Given the description of an element on the screen output the (x, y) to click on. 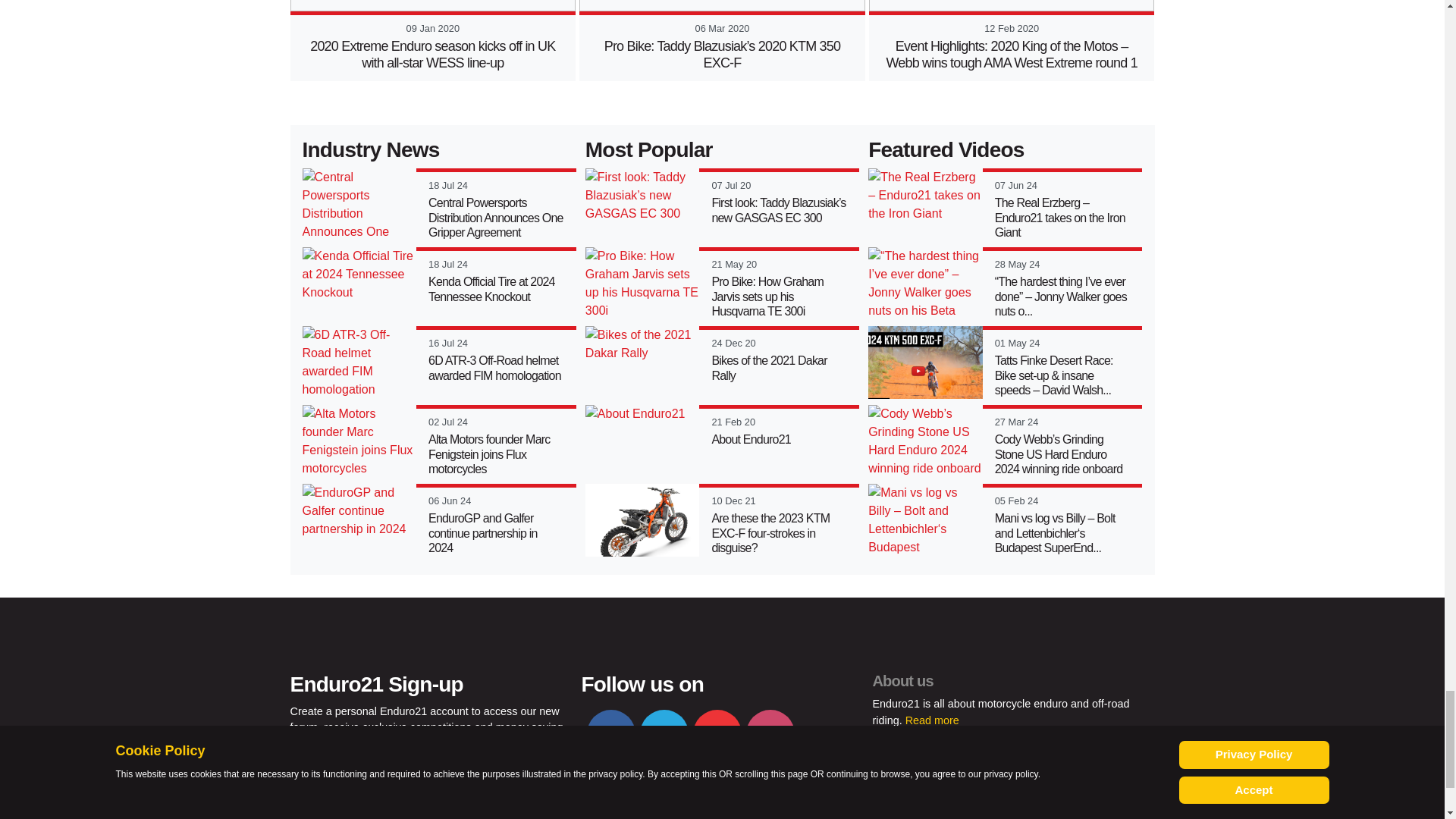
Follow us on Youtube (717, 734)
Follow us on Facebook (610, 734)
Follow us on Twitter (664, 734)
Follow us on Instagram (769, 734)
